Given the description of an element on the screen output the (x, y) to click on. 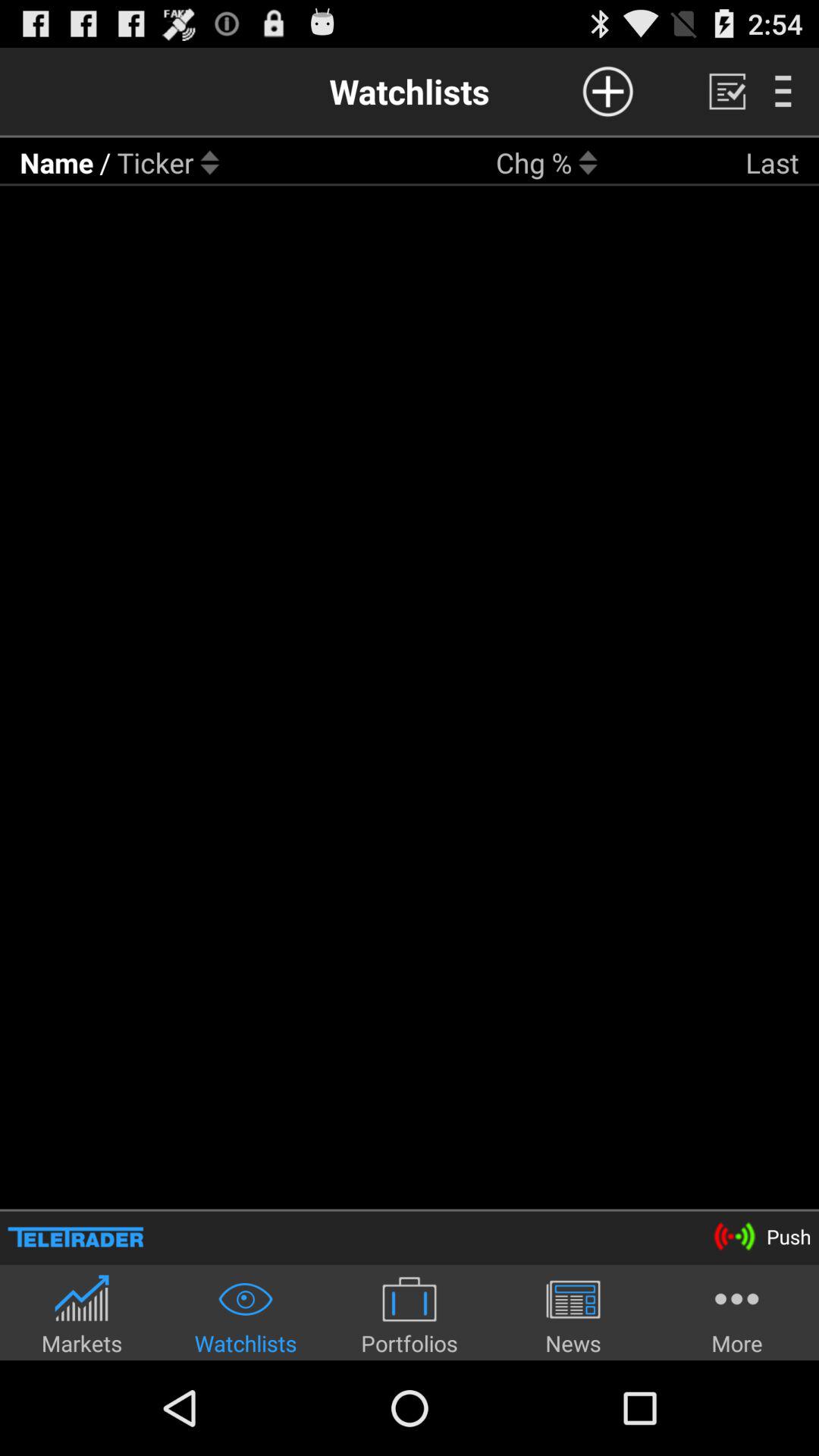
tap icon below the push item (737, 1314)
